Given the description of an element on the screen output the (x, y) to click on. 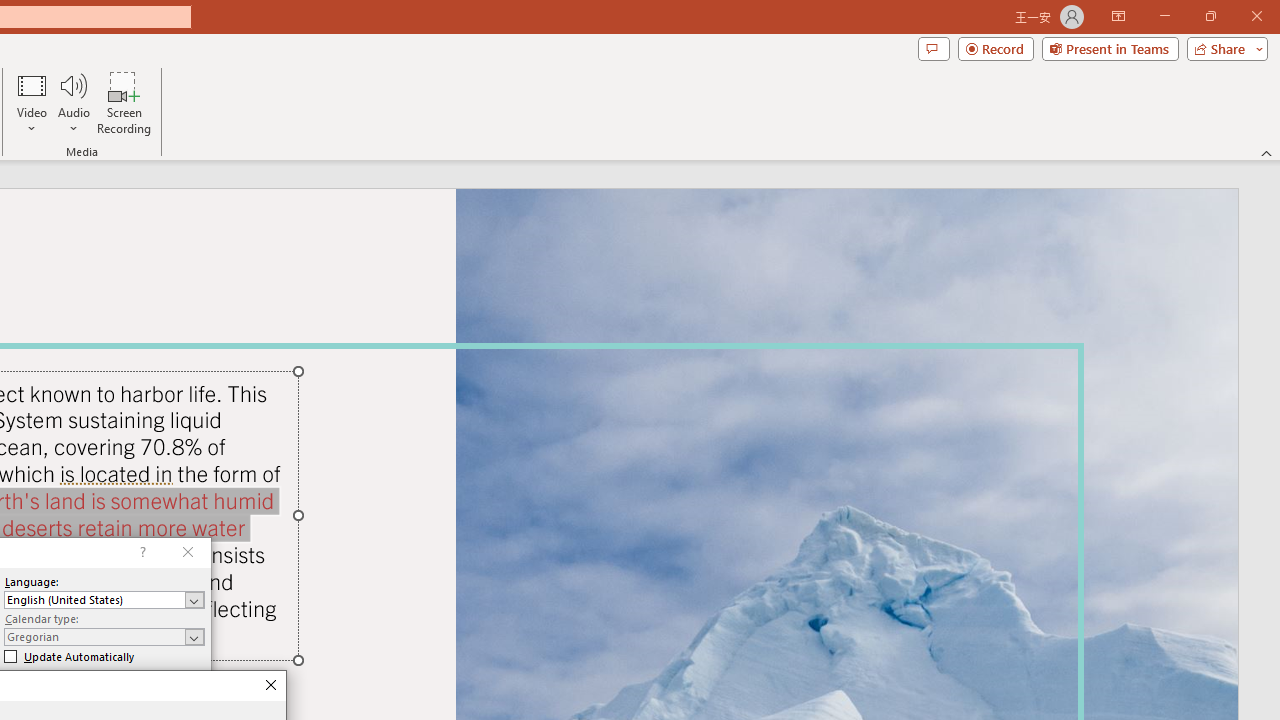
Audio (73, 102)
Open (194, 637)
Share (1223, 48)
